Given the description of an element on the screen output the (x, y) to click on. 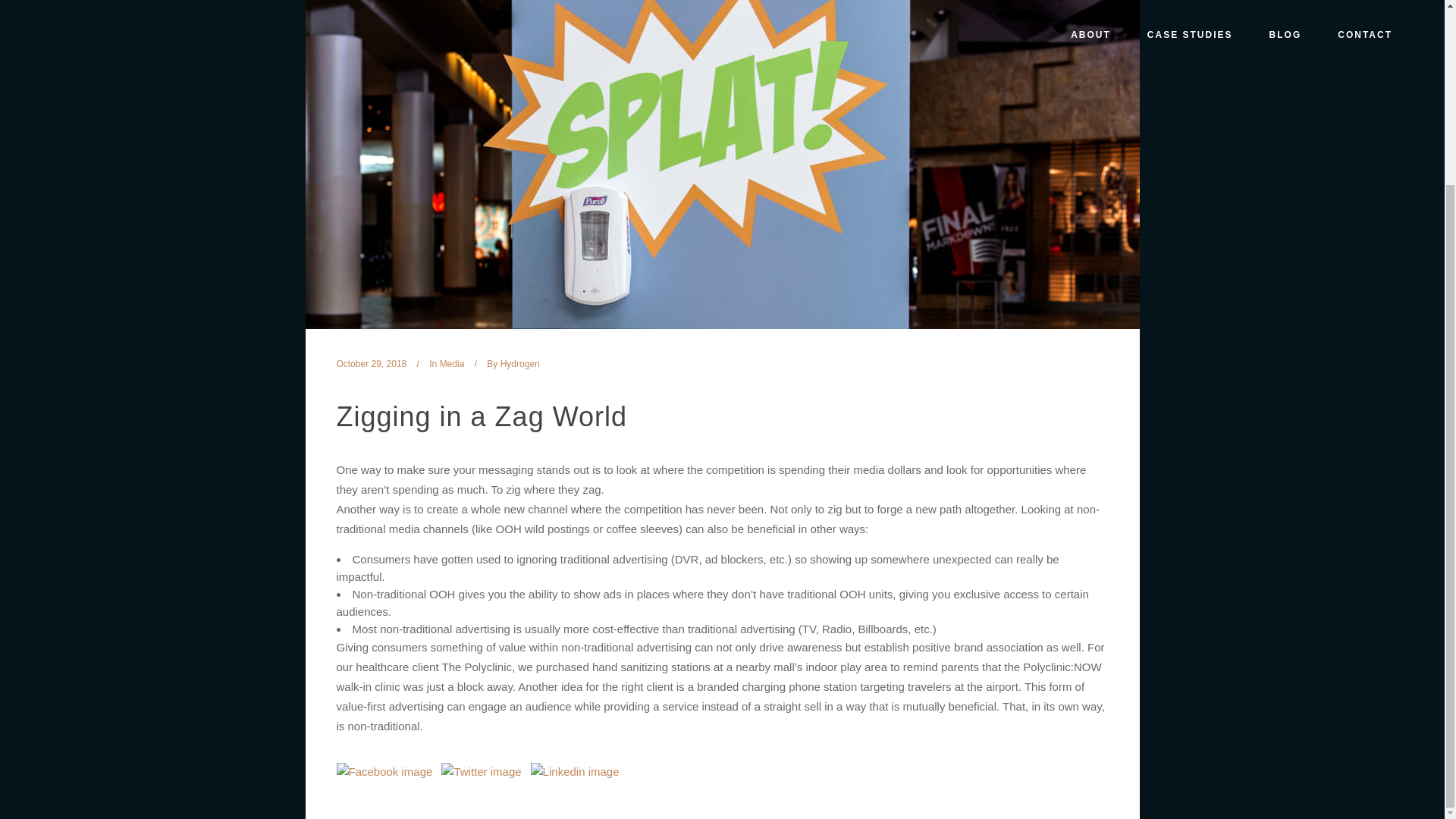
Share on Twitter (481, 771)
Media (451, 363)
New business inquiries (103, 383)
Hydrogen (520, 363)
Facebook (40, 477)
LinkedIn (78, 477)
Share on LinkedIn (575, 771)
Instagram (59, 477)
Share on Facebook (384, 771)
